Given the description of an element on the screen output the (x, y) to click on. 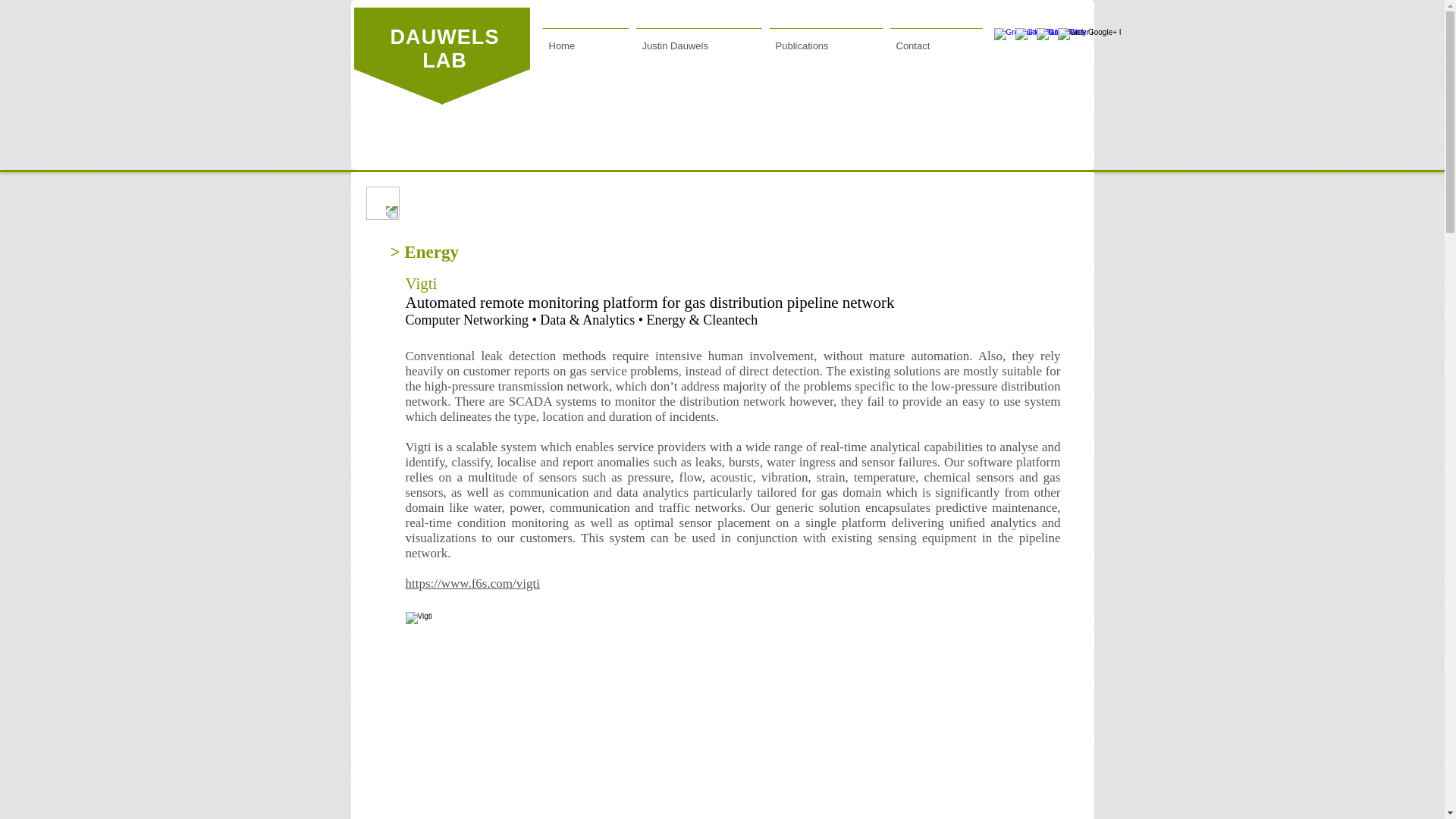
Home (584, 38)
Justin Dauwels (698, 38)
Contact (935, 38)
Computer Networking (465, 319)
DAUWELS LAB (444, 48)
Publications (825, 38)
